Given the description of an element on the screen output the (x, y) to click on. 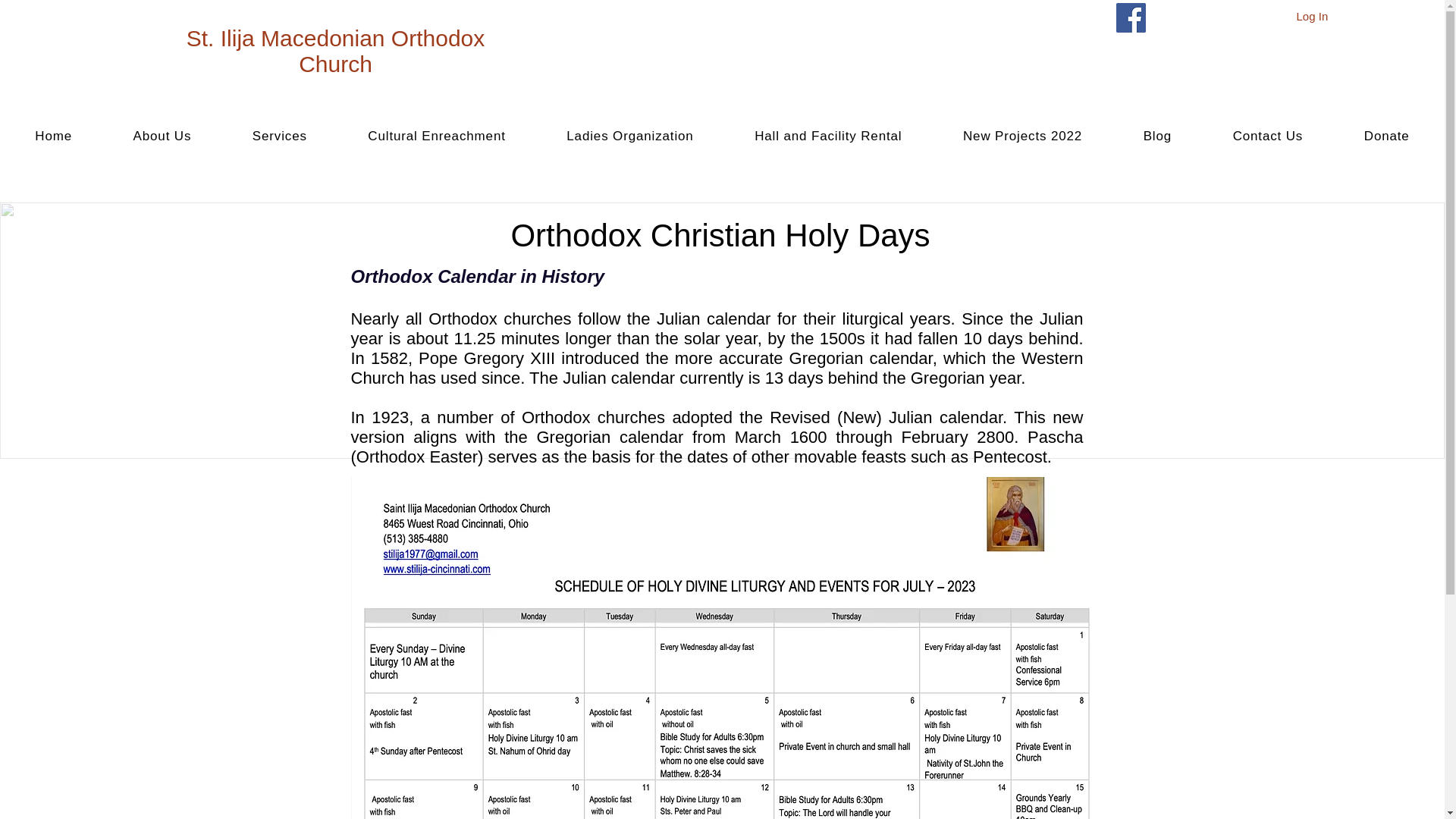
Ladies Organization (629, 135)
Cultural Enreachment (436, 135)
Blog (1156, 135)
Hall and Facility Rental (828, 135)
Home (53, 135)
Log In (1312, 16)
Contact Us (1267, 135)
Donate (1385, 135)
Services (279, 135)
New Projects 2022 (1022, 135)
